Given the description of an element on the screen output the (x, y) to click on. 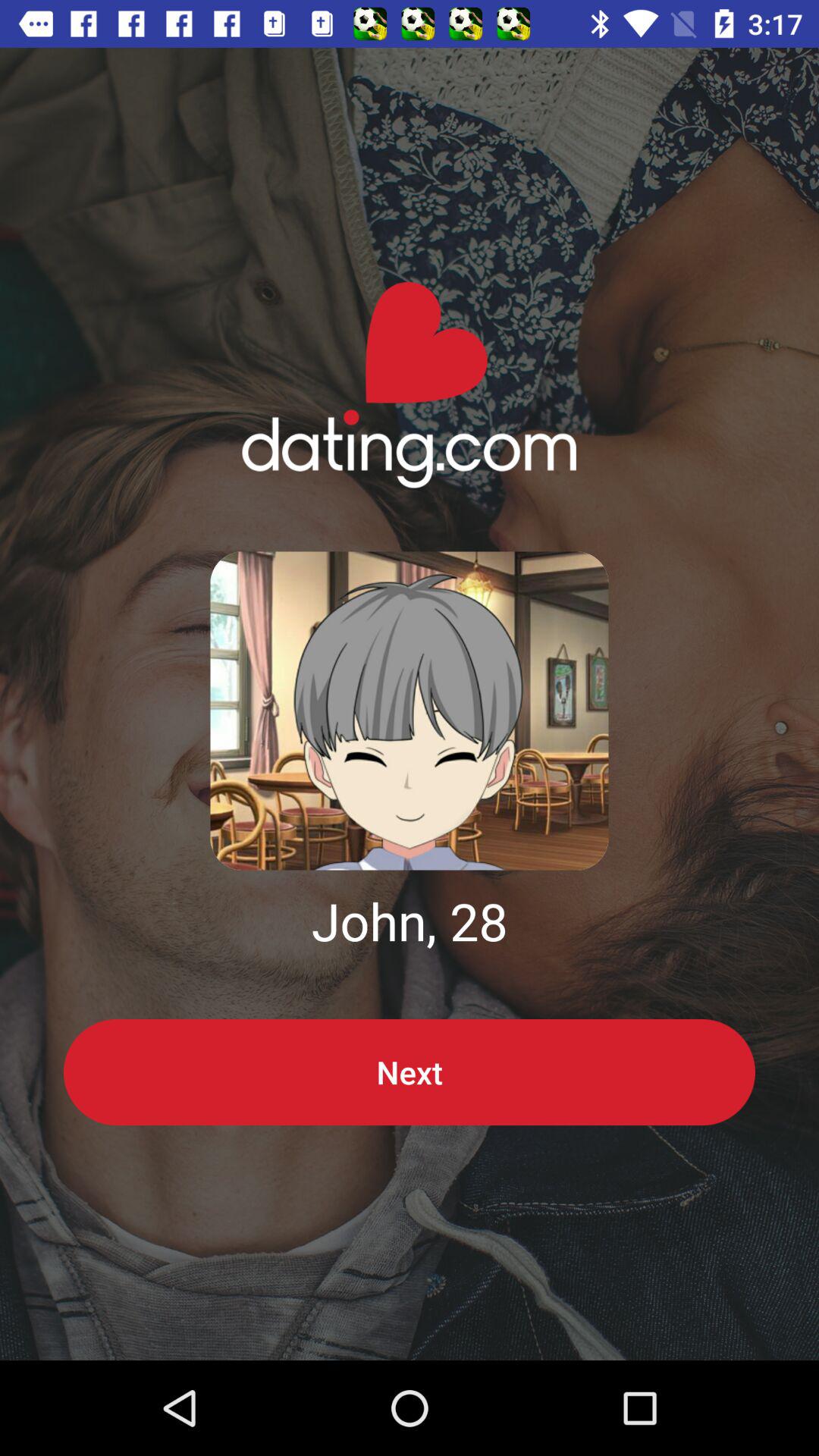
turn on icon below john, 28 icon (409, 1072)
